Given the description of an element on the screen output the (x, y) to click on. 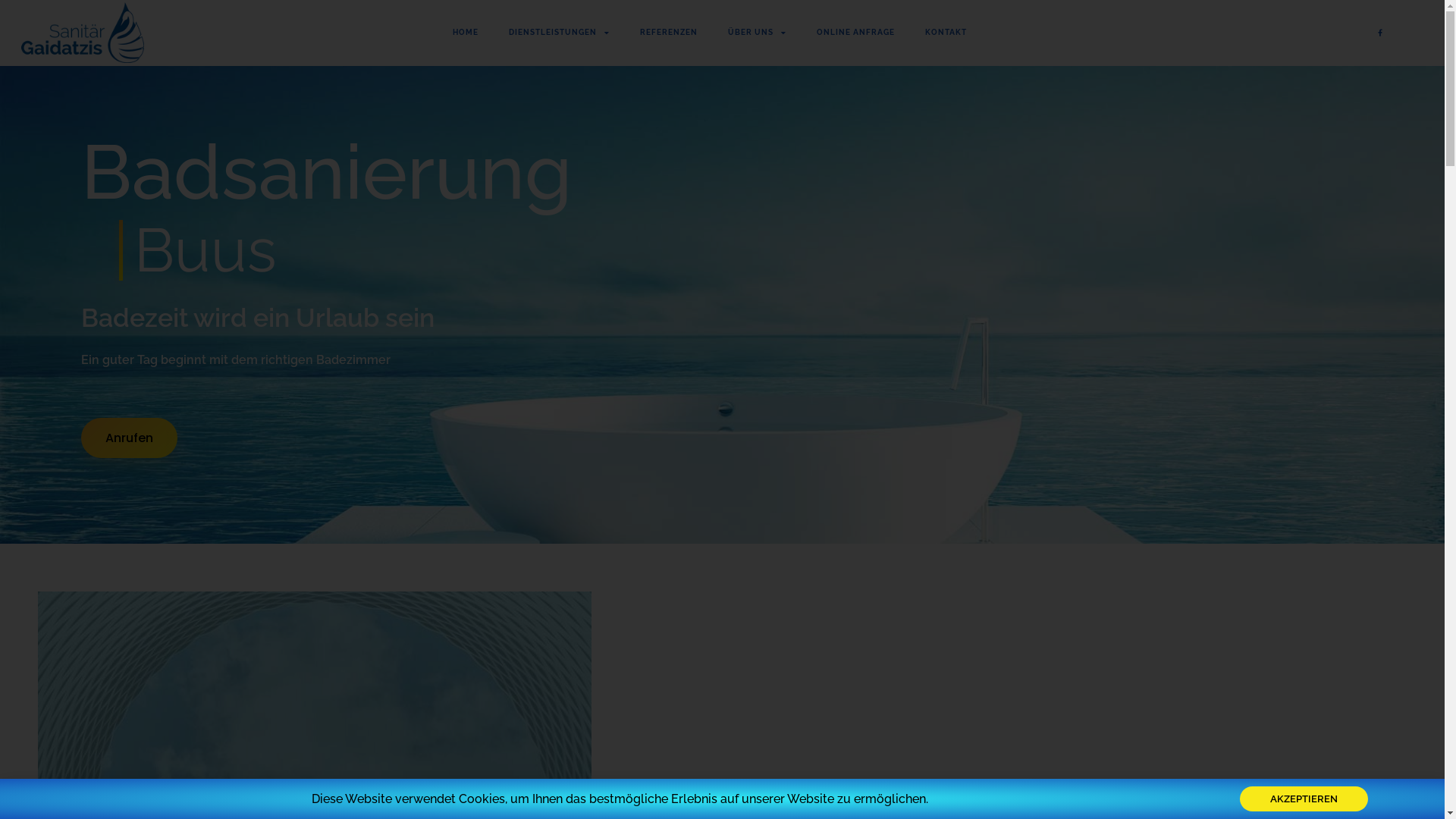
REFERENZEN Element type: text (668, 32)
ONLINE ANFRAGE Element type: text (855, 32)
DIENSTLEISTUNGEN Element type: text (558, 32)
AKZEPTIEREN Element type: text (1303, 798)
KONTAKT Element type: text (946, 32)
HOME Element type: text (465, 32)
Anrufen Element type: text (129, 437)
